Given the description of an element on the screen output the (x, y) to click on. 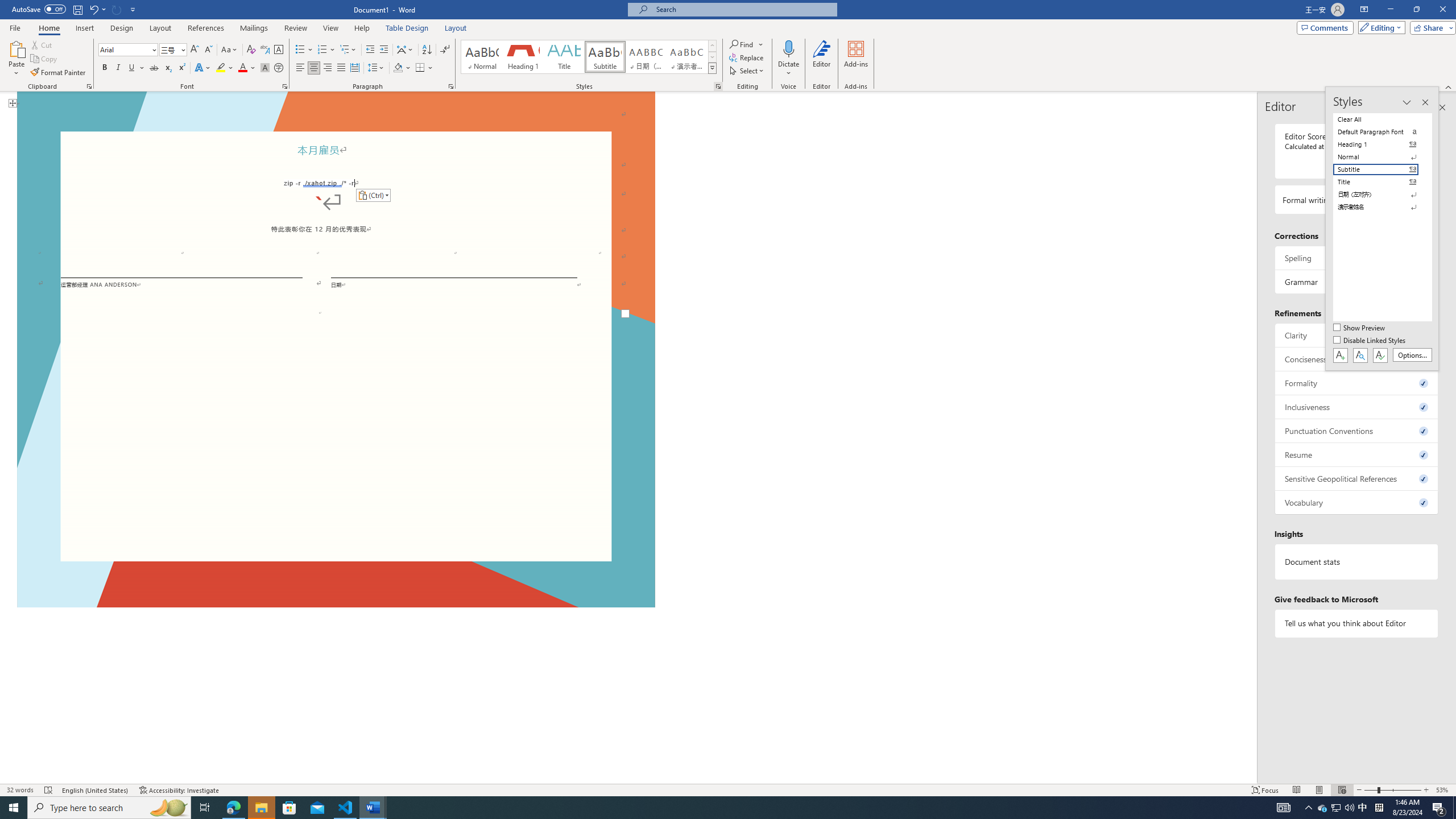
Action: Paste alternatives (373, 195)
Can't Repeat (117, 9)
Options... (1412, 354)
Tell us what you think about Editor (1356, 623)
